Given the description of an element on the screen output the (x, y) to click on. 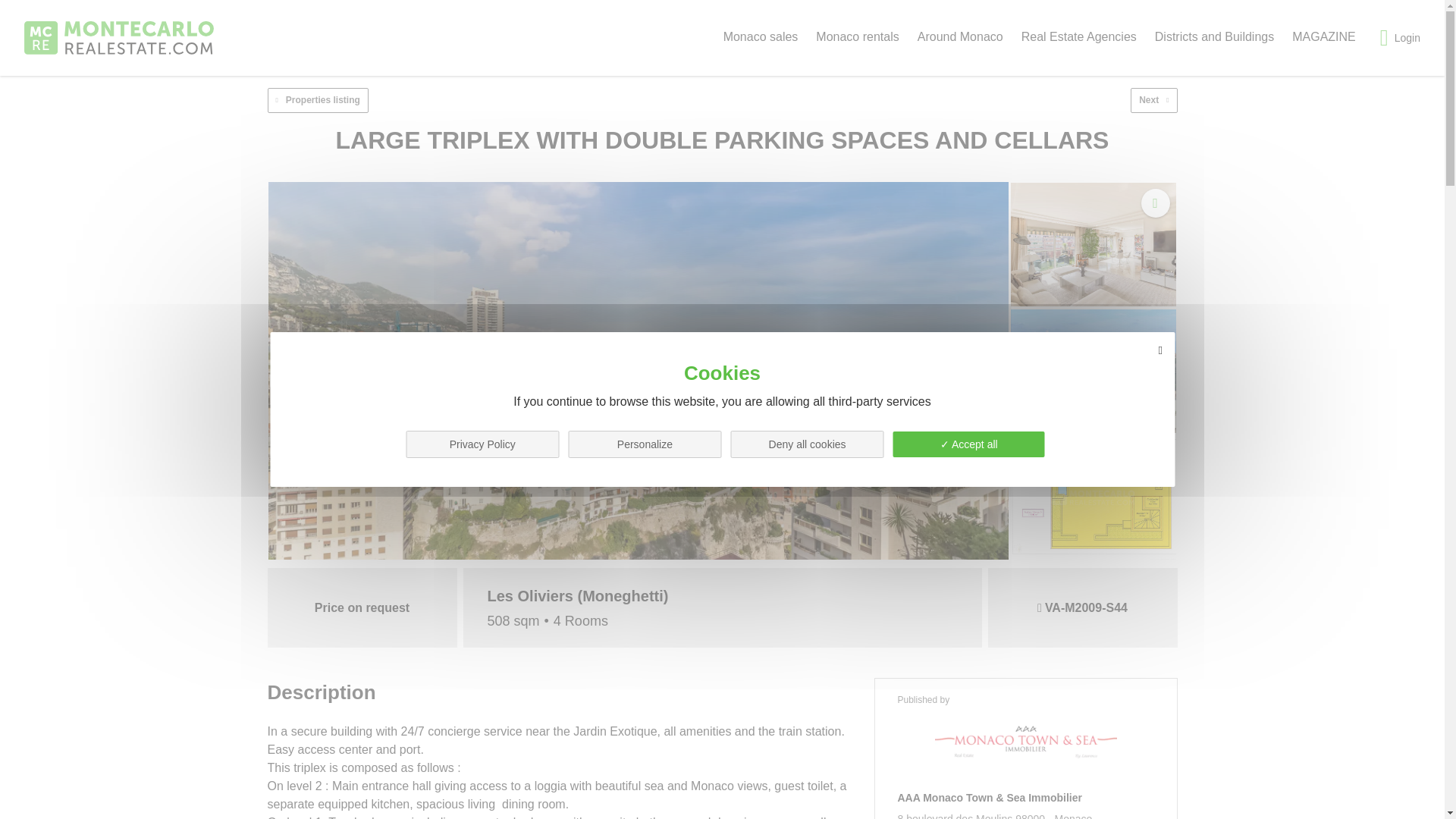
Around Monaco (960, 36)
MonteCarlo (119, 37)
Next (1153, 100)
MAGAZINE (1323, 36)
Monaco (1073, 816)
Monaco rentals (856, 36)
Les Oliviers (529, 595)
Properties listing (317, 100)
Real Estate Agencies (1079, 36)
Moneghetti (622, 595)
Login (1400, 37)
Monaco sales (760, 36)
